Given the description of an element on the screen output the (x, y) to click on. 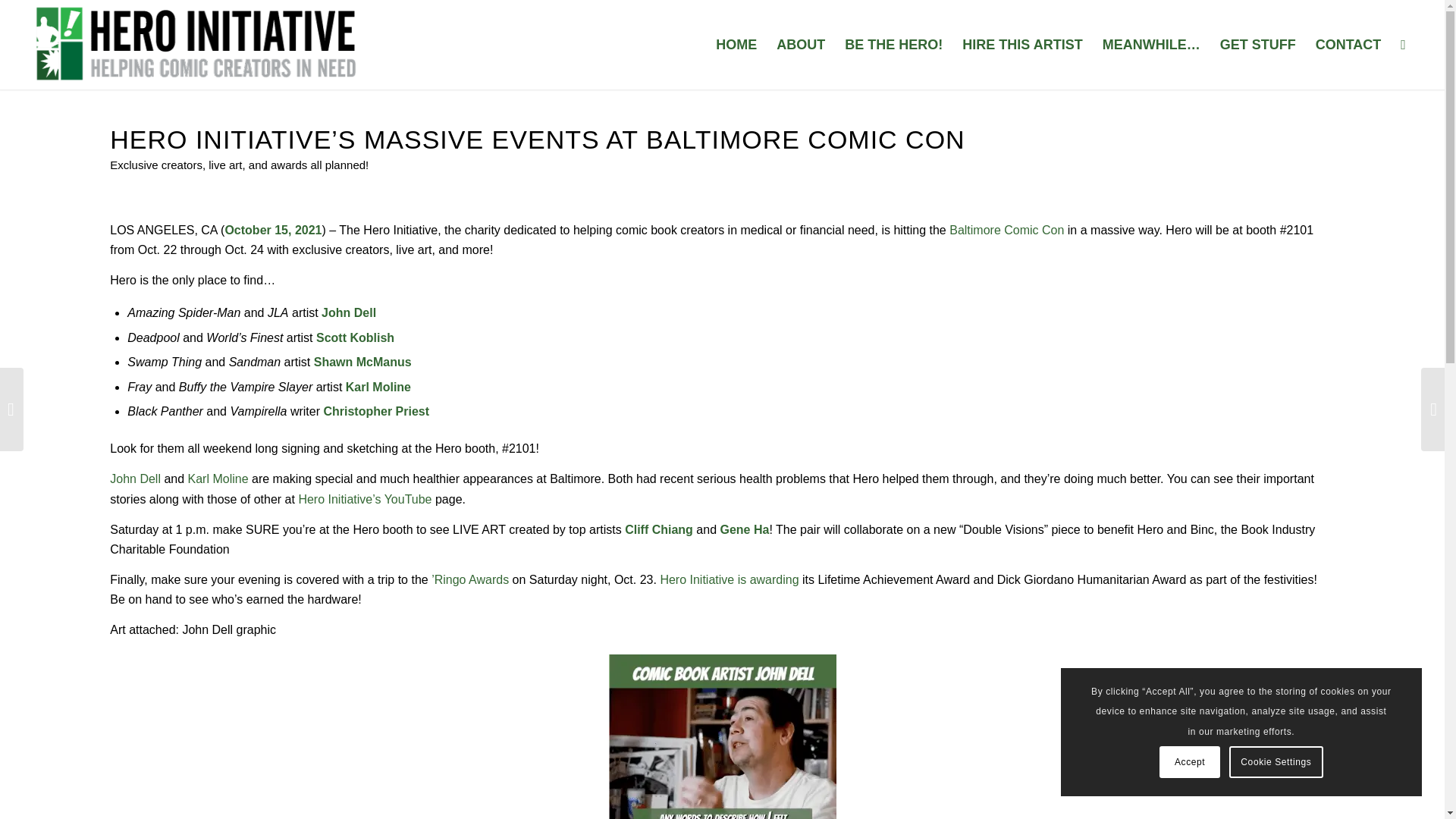
BE THE HERO! (893, 44)
GET STUFF (1257, 44)
John Dell (135, 478)
CONTACT (1348, 44)
Karl Moline (217, 478)
HIRE THIS ARTIST (1022, 44)
Baltimore Comic Con (1006, 229)
